Given the description of an element on the screen output the (x, y) to click on. 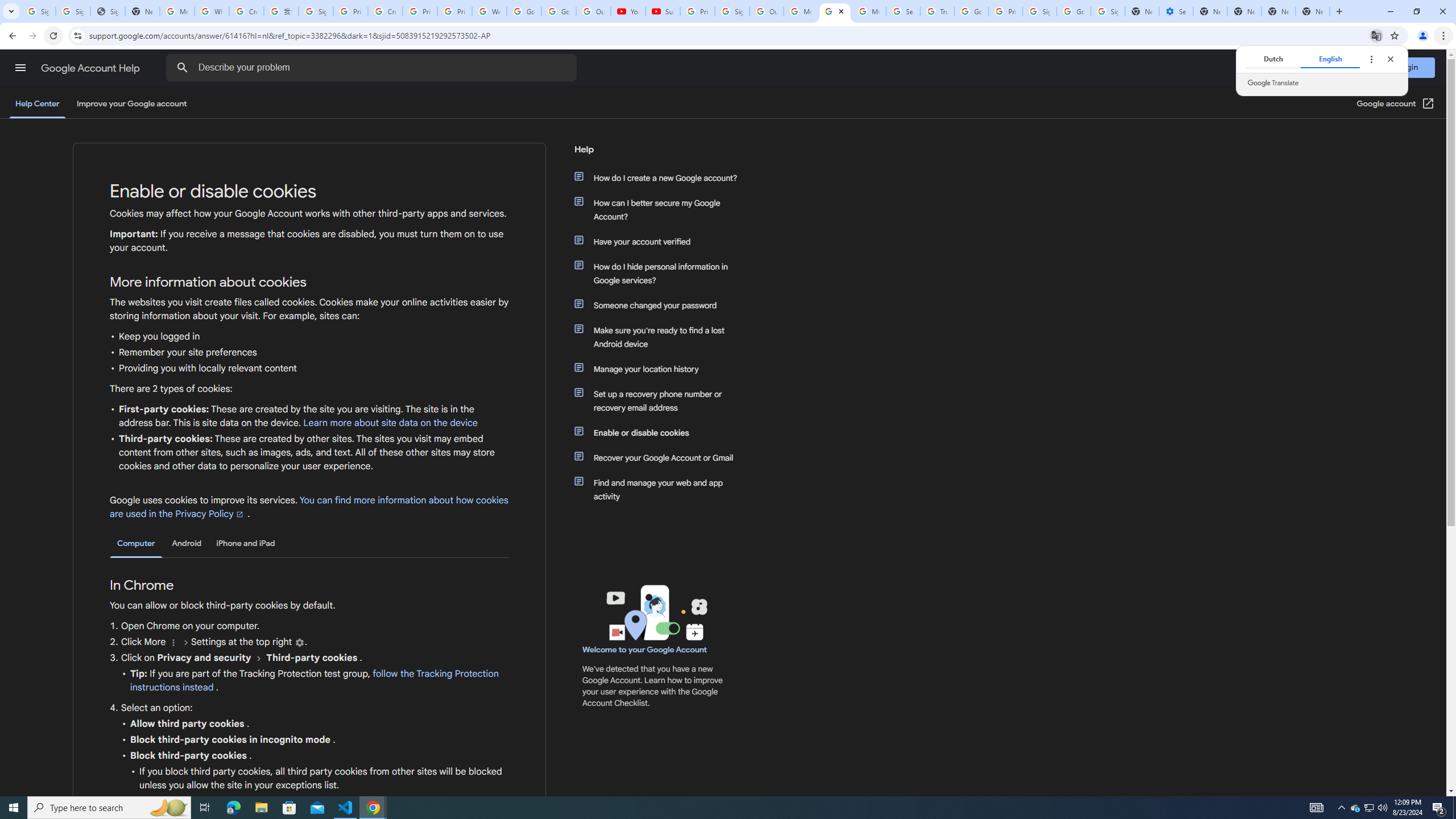
Create your Google Account (246, 11)
Main menu (20, 67)
Help (656, 153)
Recover your Google Account or Gmail (661, 457)
Have your account verified (661, 241)
iPhone and iPad (245, 542)
How can I better secure my Google Account? (661, 209)
Welcome to My Activity (489, 11)
Institutions (299, 642)
